Given the description of an element on the screen output the (x, y) to click on. 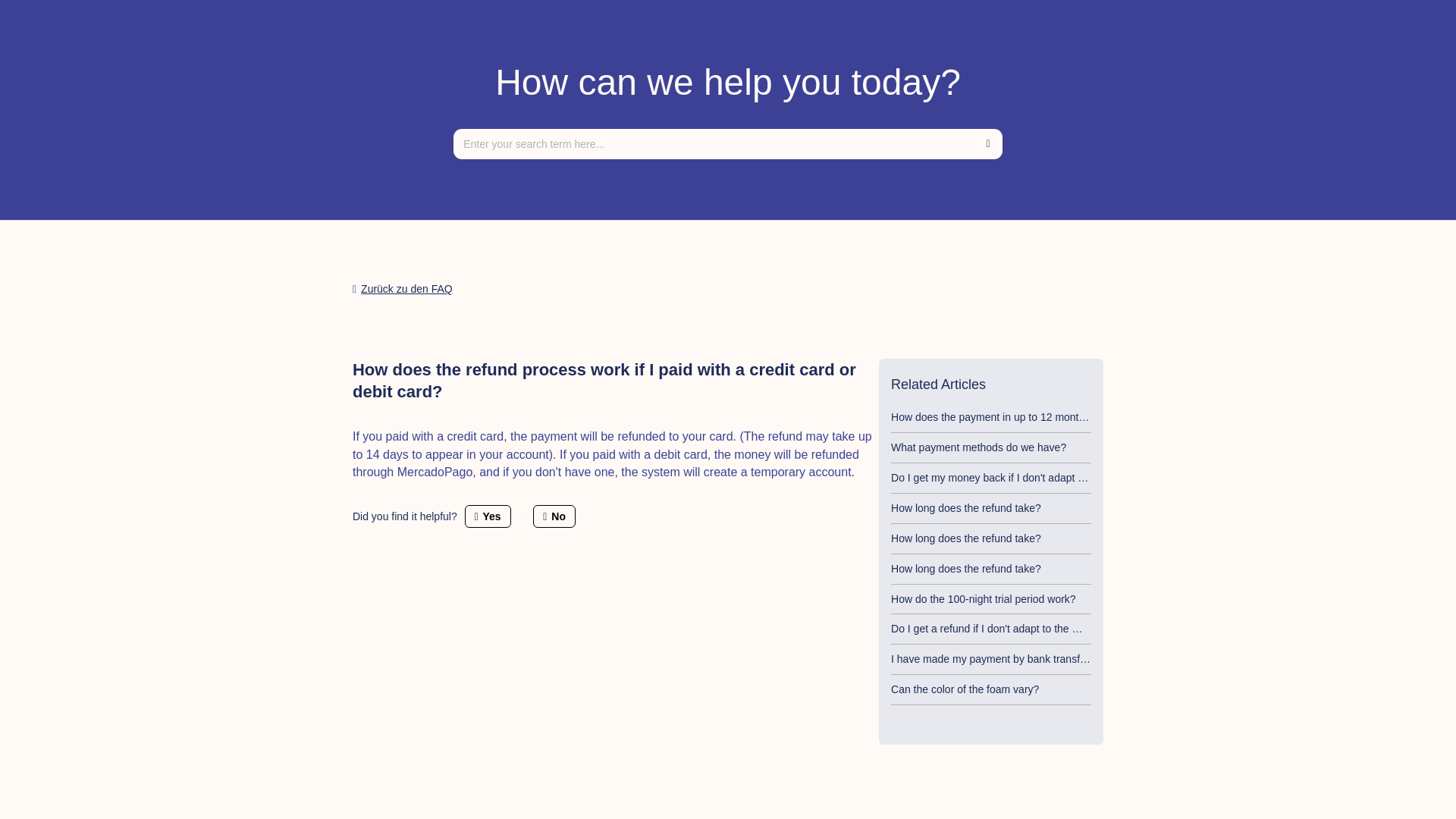
Do I get my money back if I don't adapt to the mattress? (1022, 477)
Can the color of the foam vary? (965, 689)
What payment methods do we have? (978, 447)
Do I get a refund if I don't adapt to the mattress (1001, 628)
How do the 100-night trial period work? (983, 598)
How long does the refund take? (966, 508)
How long does the refund take? (966, 568)
How long does the refund take? (966, 538)
